Given the description of an element on the screen output the (x, y) to click on. 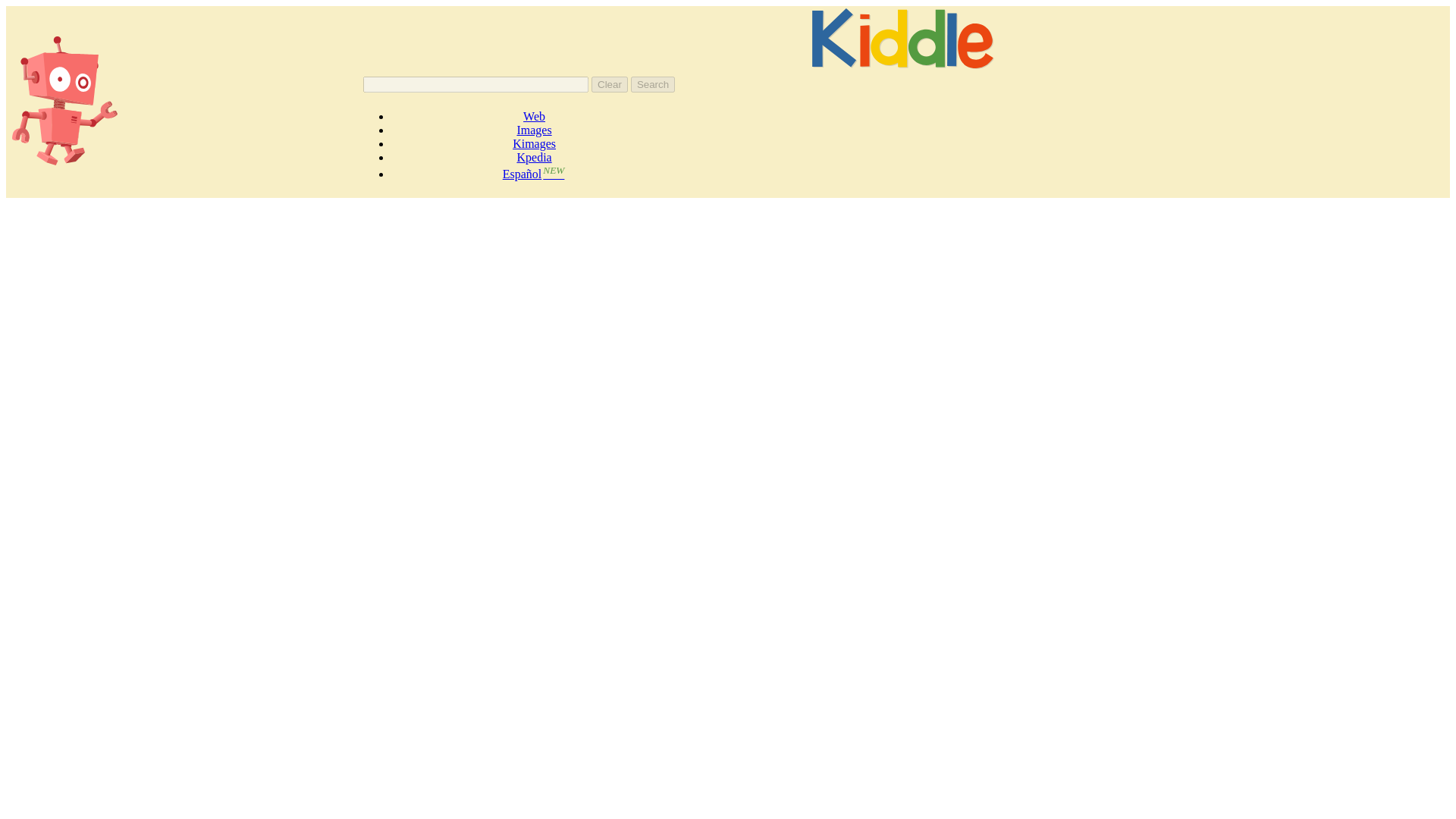
Clear (609, 84)
Images (533, 129)
Search (652, 84)
Kpedia (533, 156)
Kimages (534, 143)
Web (533, 115)
